Given the description of an element on the screen output the (x, y) to click on. 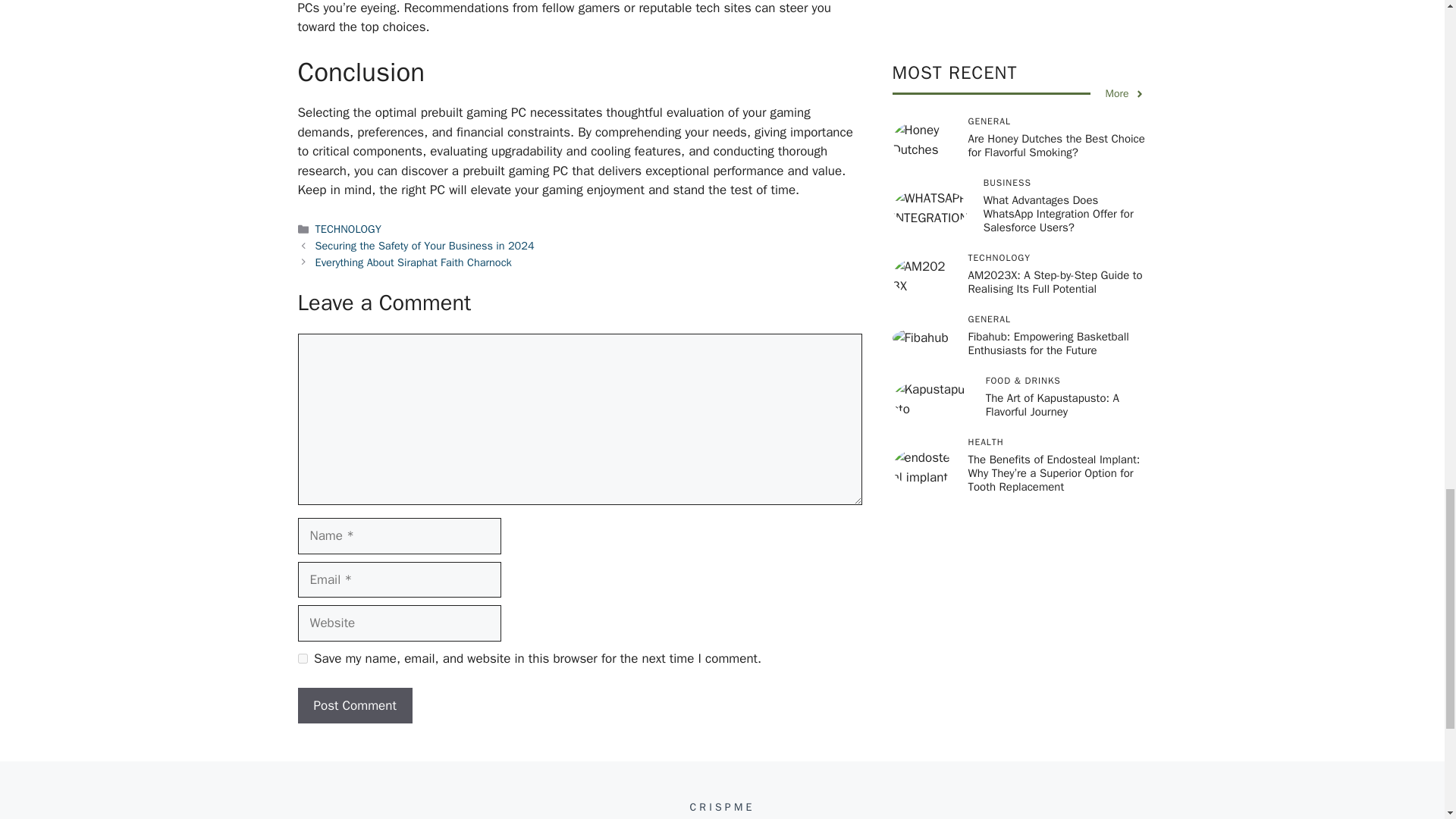
Post Comment (354, 705)
yes (302, 658)
